Given the description of an element on the screen output the (x, y) to click on. 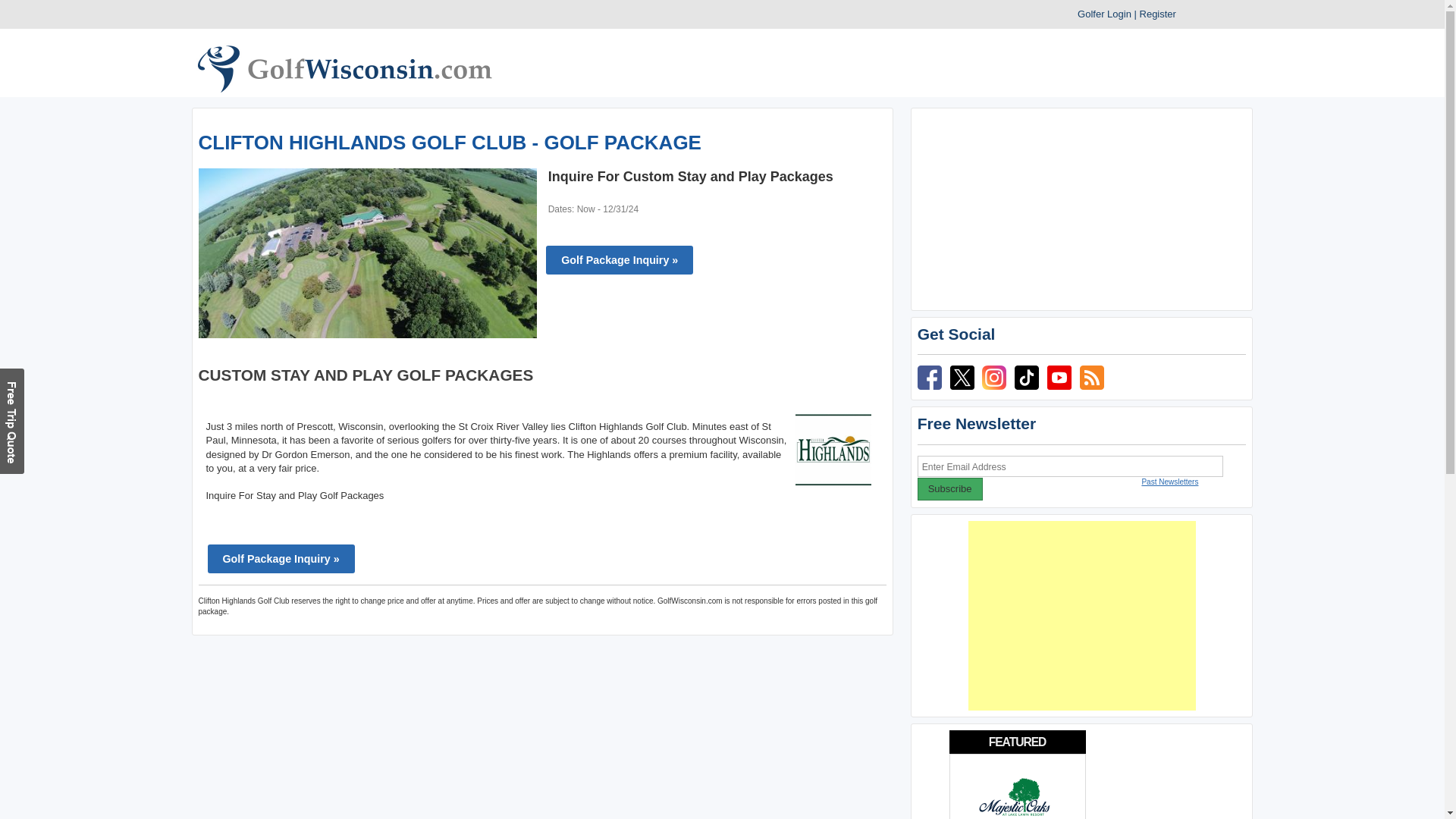
Register (1158, 13)
Subscribe (949, 488)
3rd party ad content (1081, 208)
Golfer Login (1104, 13)
Advertisement (1081, 615)
